Given the description of an element on the screen output the (x, y) to click on. 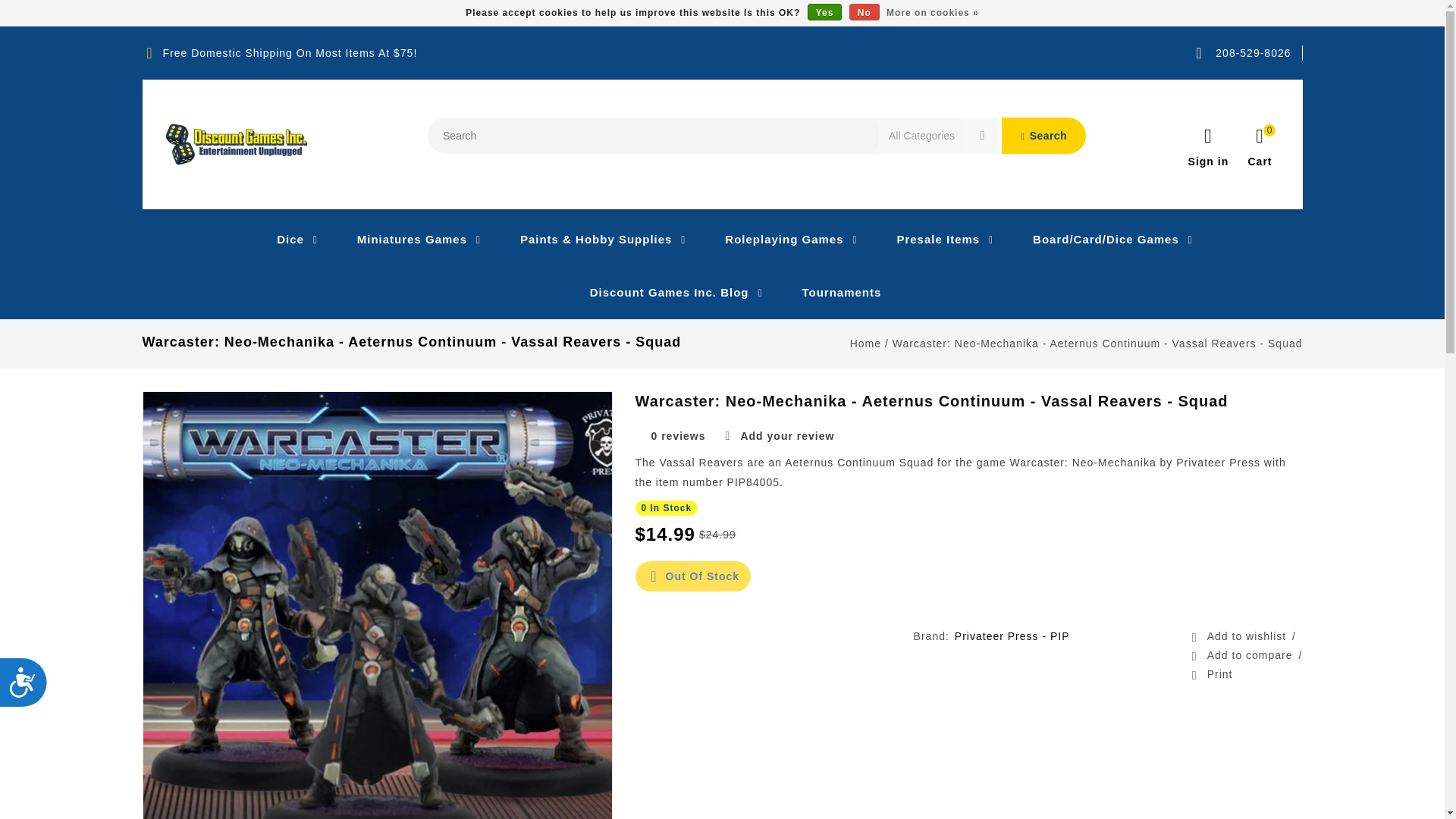
Dice (284, 239)
Search (1043, 135)
Miniatures Games (406, 239)
Dice (284, 239)
ACCESSIBILITY (31, 689)
Discount Games Inc (236, 144)
Search (1043, 135)
